Given the description of an element on the screen output the (x, y) to click on. 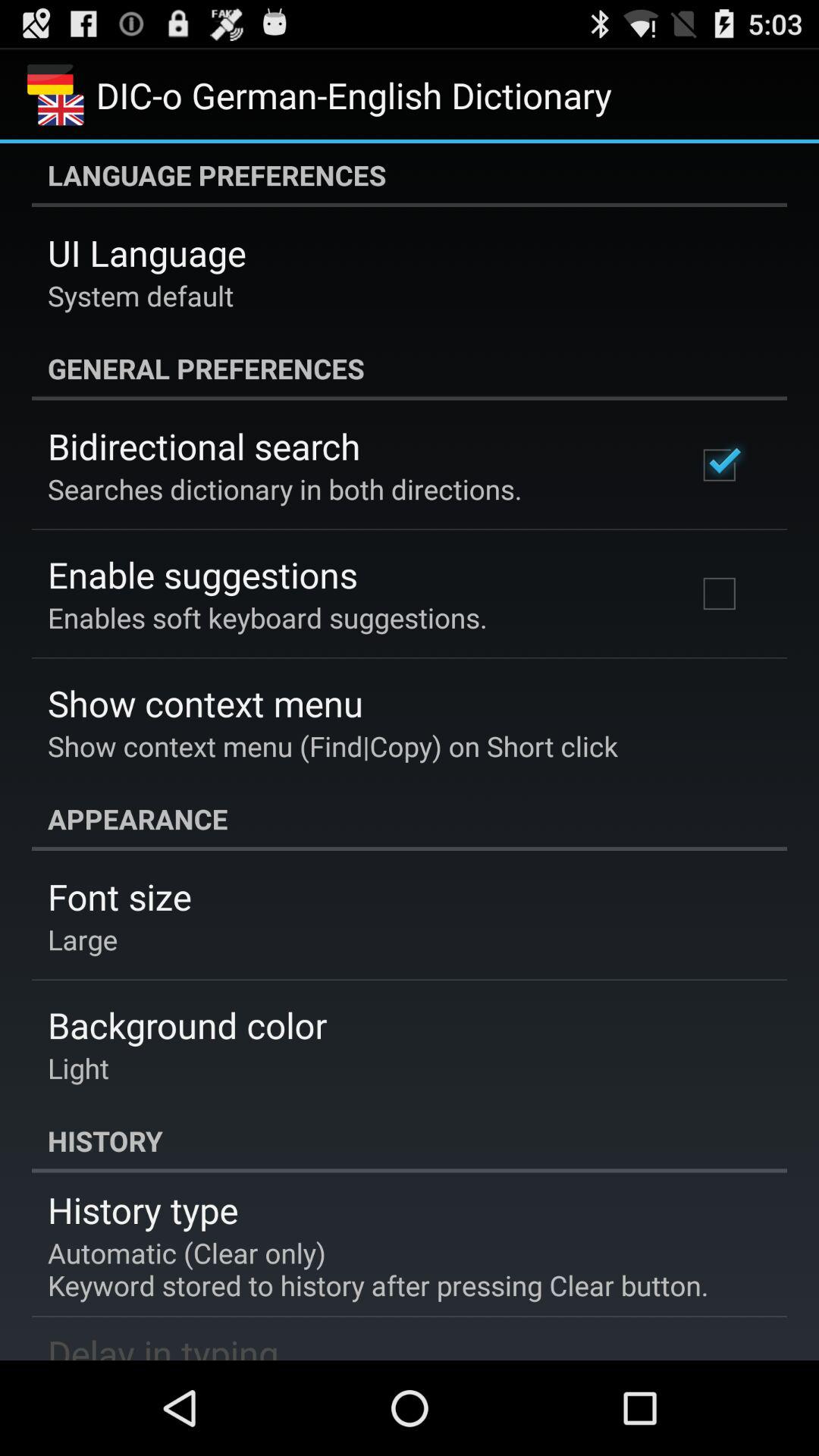
jump until background color item (187, 1025)
